Given the description of an element on the screen output the (x, y) to click on. 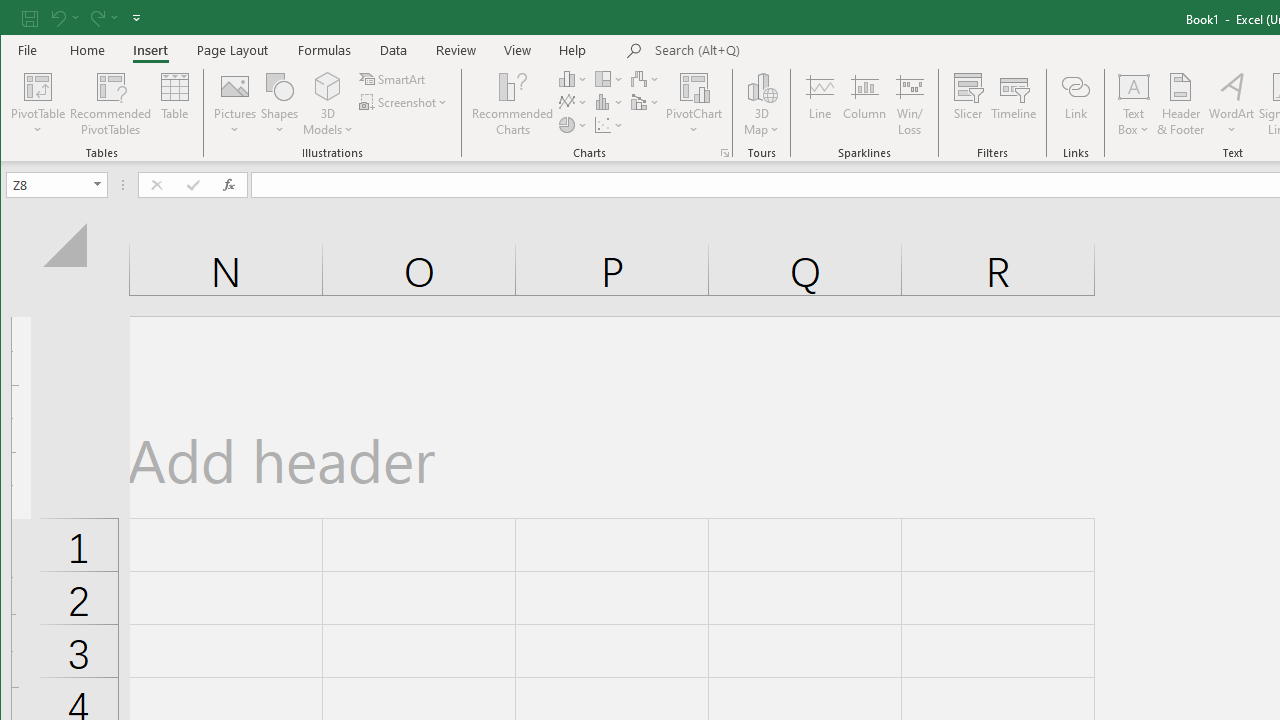
3D Map (762, 86)
3D Models (327, 104)
WordArt (1231, 104)
Insert Line or Area Chart (573, 101)
3D Models (327, 86)
SmartArt... (393, 78)
Header & Footer... (1180, 104)
Slicer... (968, 104)
